Given the description of an element on the screen output the (x, y) to click on. 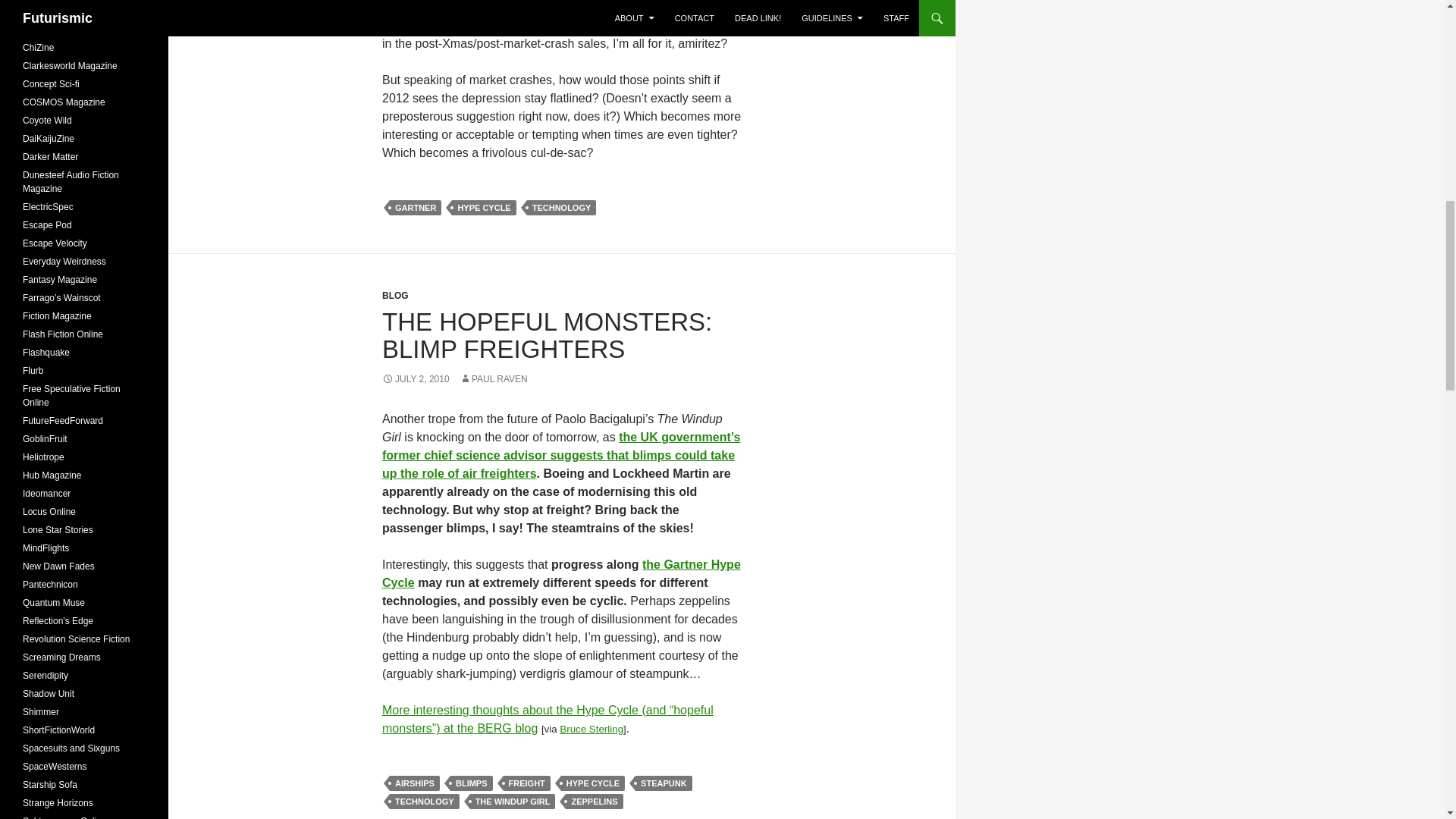
HYPE CYCLE (483, 207)
STEAPUNK (663, 783)
AIRSHIPS (414, 783)
PAUL RAVEN (493, 378)
TECHNOLOGY (561, 207)
Bruce Sterling (591, 728)
the Gartner Hype Cycle (561, 572)
ZEPPELINS (594, 801)
Hopeful Monsters and the Trough Of Disillusionment - BERG (547, 718)
TECHNOLOGY (425, 801)
HYPE CYCLE (592, 783)
THE HOPEFUL MONSTERS: BLIMP FREIGHTERS (546, 335)
BLIMPS (471, 783)
BLOG (395, 295)
